Given the description of an element on the screen output the (x, y) to click on. 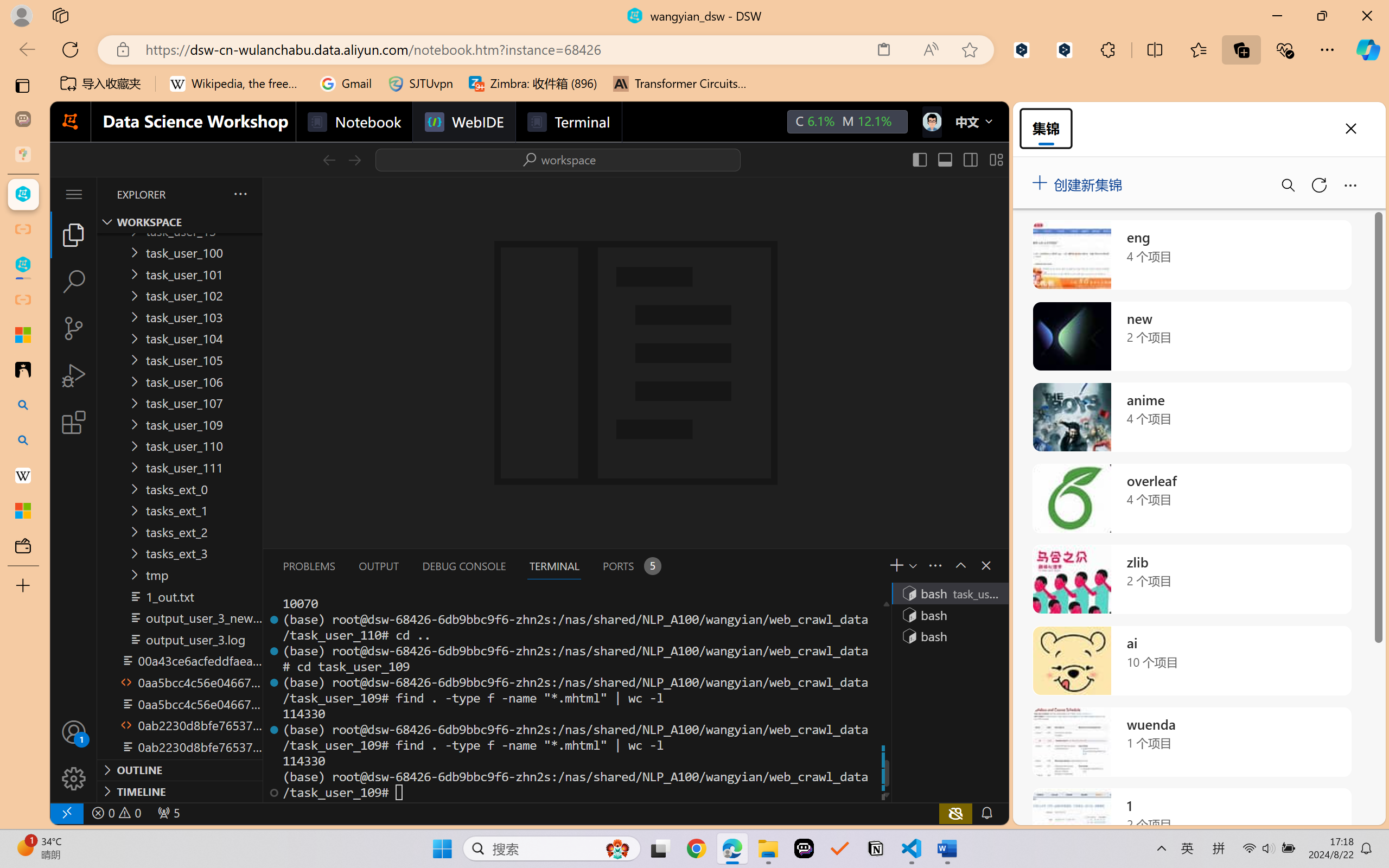
SJTUvpn (419, 83)
Terminal 1 bash (949, 593)
Manage (73, 755)
Customize Layout... (995, 159)
Timeline Section (179, 791)
Go Back (Alt+LeftArrow) (329, 159)
Toggle Panel (Ctrl+J) (944, 159)
Go Forward (Alt+RightArrow) (354, 159)
